Given the description of an element on the screen output the (x, y) to click on. 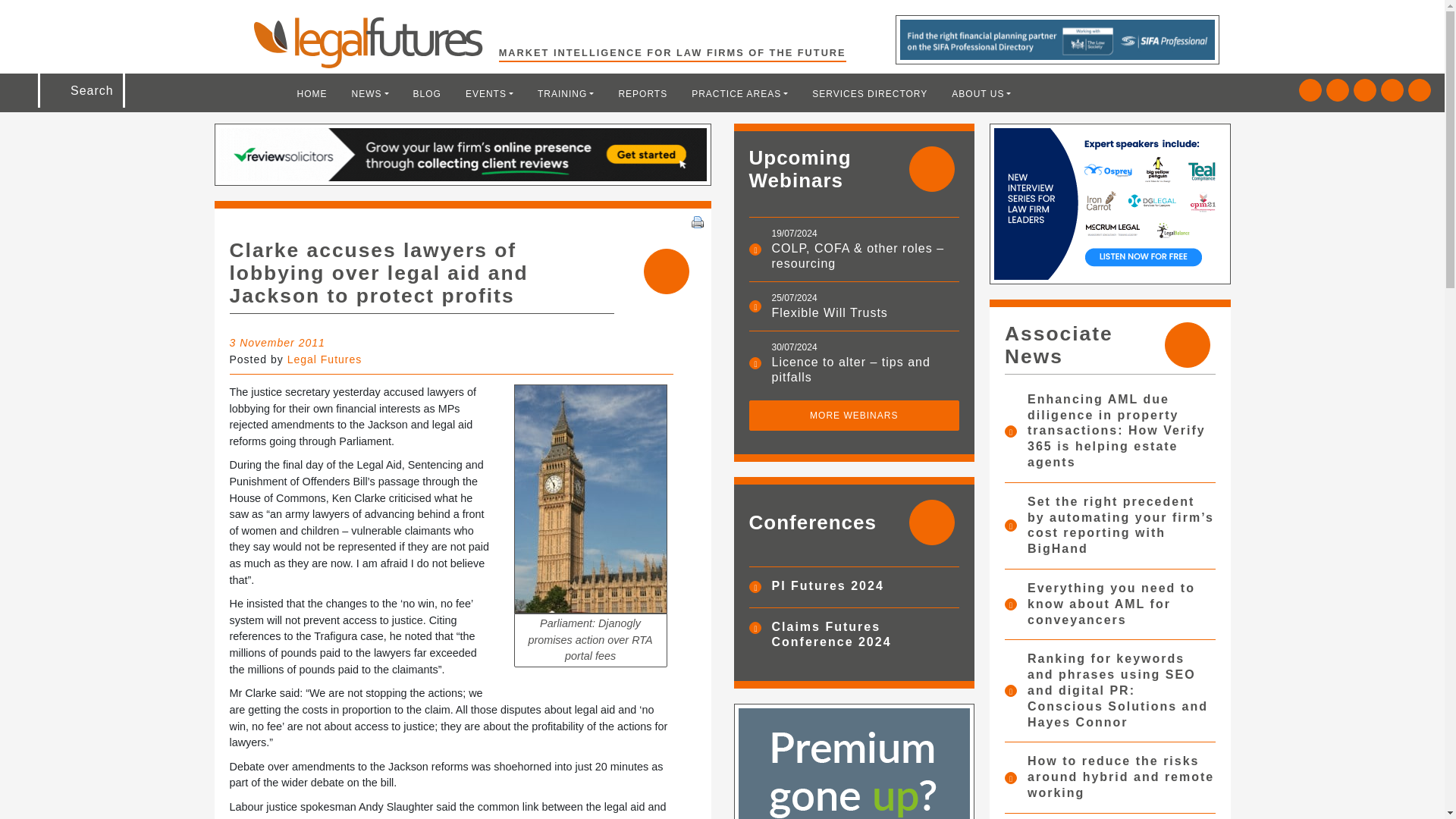
REPORTS (642, 93)
News (370, 93)
Blog (426, 93)
Search (51, 16)
HOME (312, 93)
PRACTICE AREAS (739, 93)
Legal Futures homepage (375, 42)
Home (312, 93)
EVENTS (488, 93)
NEWS (370, 93)
Events (488, 93)
SERVICES DIRECTORY (869, 93)
TRAINING (565, 93)
training (565, 93)
BLOG (426, 93)
